Given the description of an element on the screen output the (x, y) to click on. 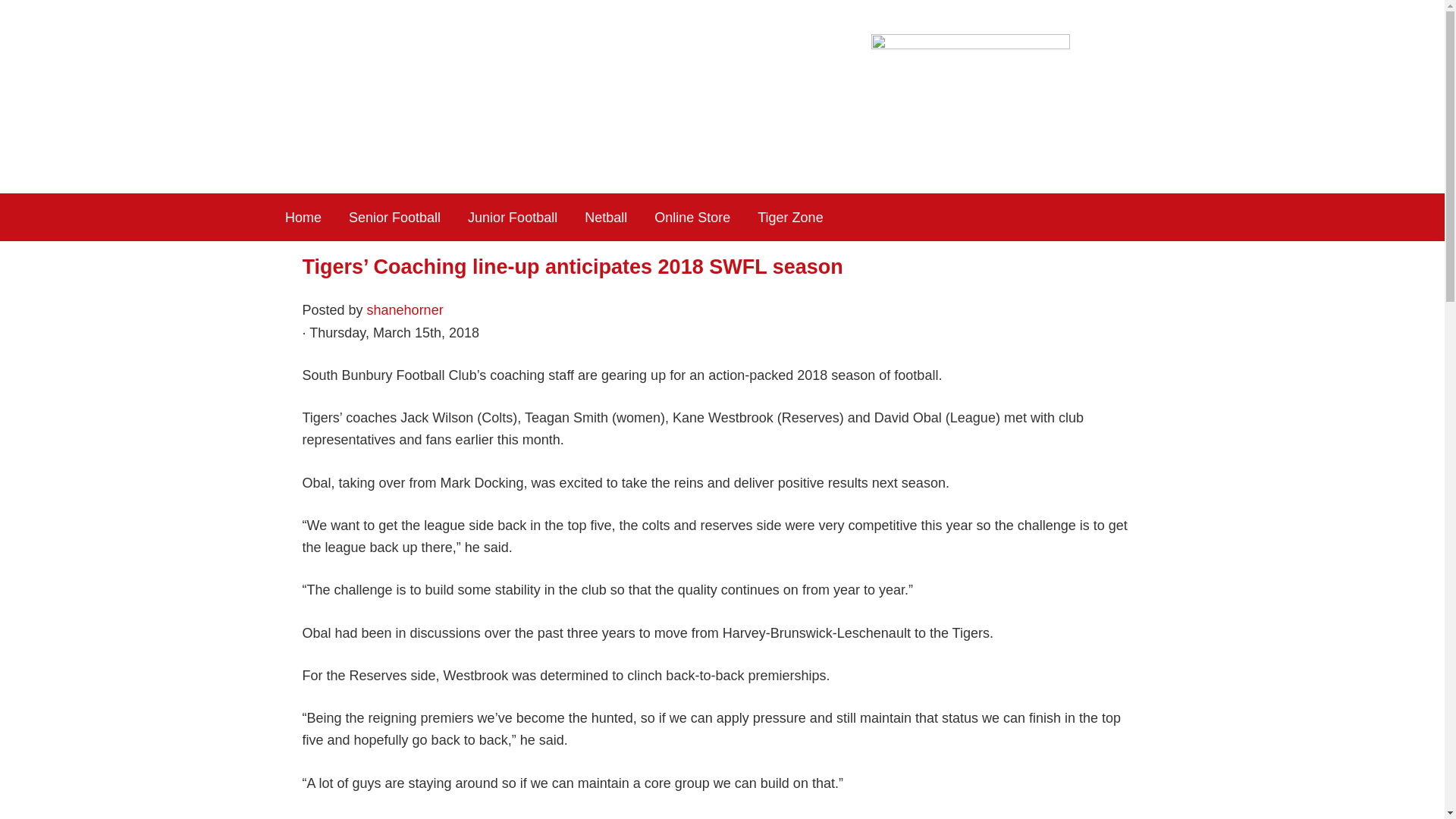
Junior Football (512, 216)
Netball (606, 216)
Senior Football (395, 216)
Home (303, 216)
shanehorner (405, 309)
